Given the description of an element on the screen output the (x, y) to click on. 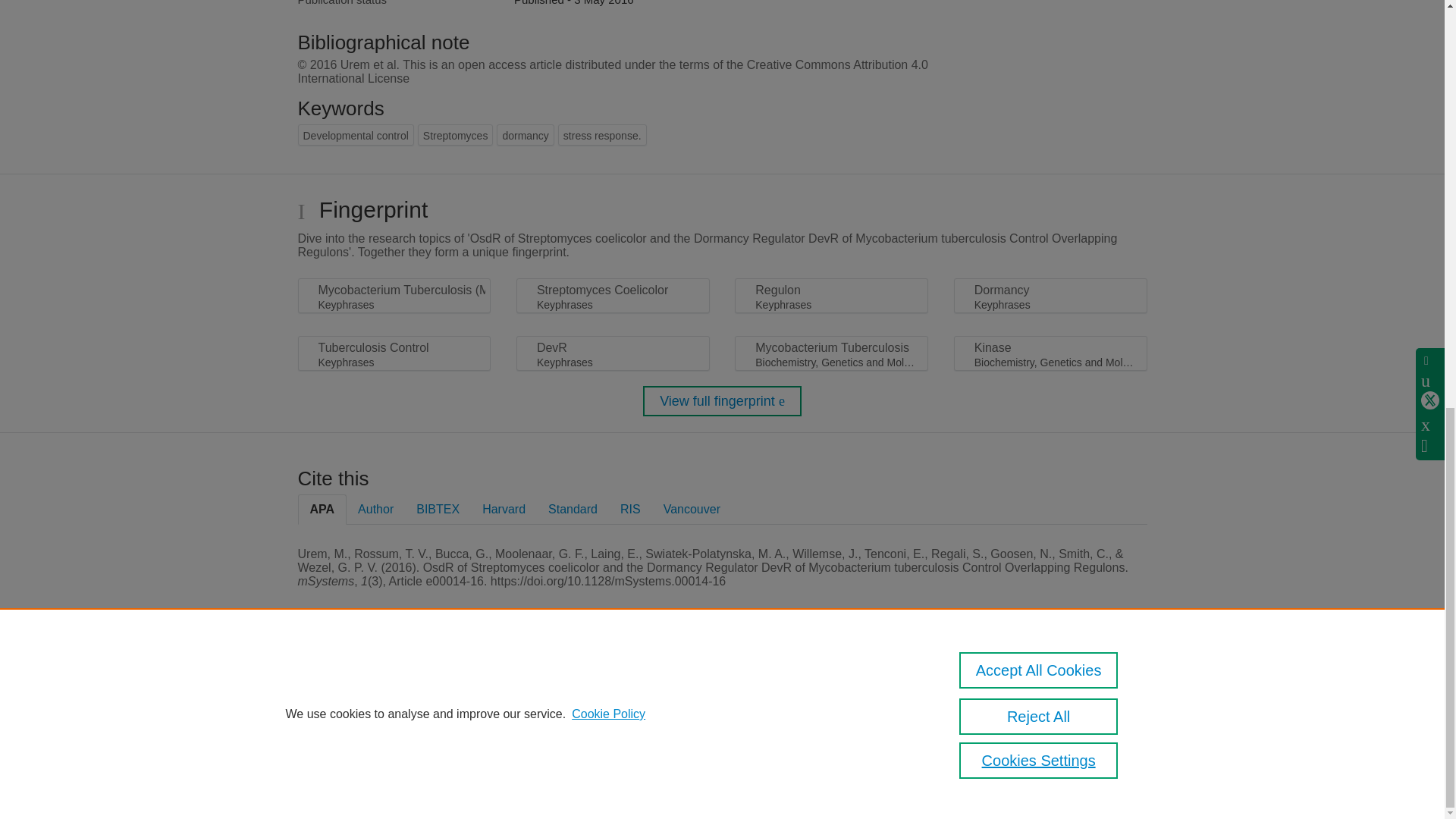
Pure (362, 686)
Scopus (394, 686)
Elsevier B.V. (506, 707)
View full fingerprint (722, 400)
